Given the description of an element on the screen output the (x, y) to click on. 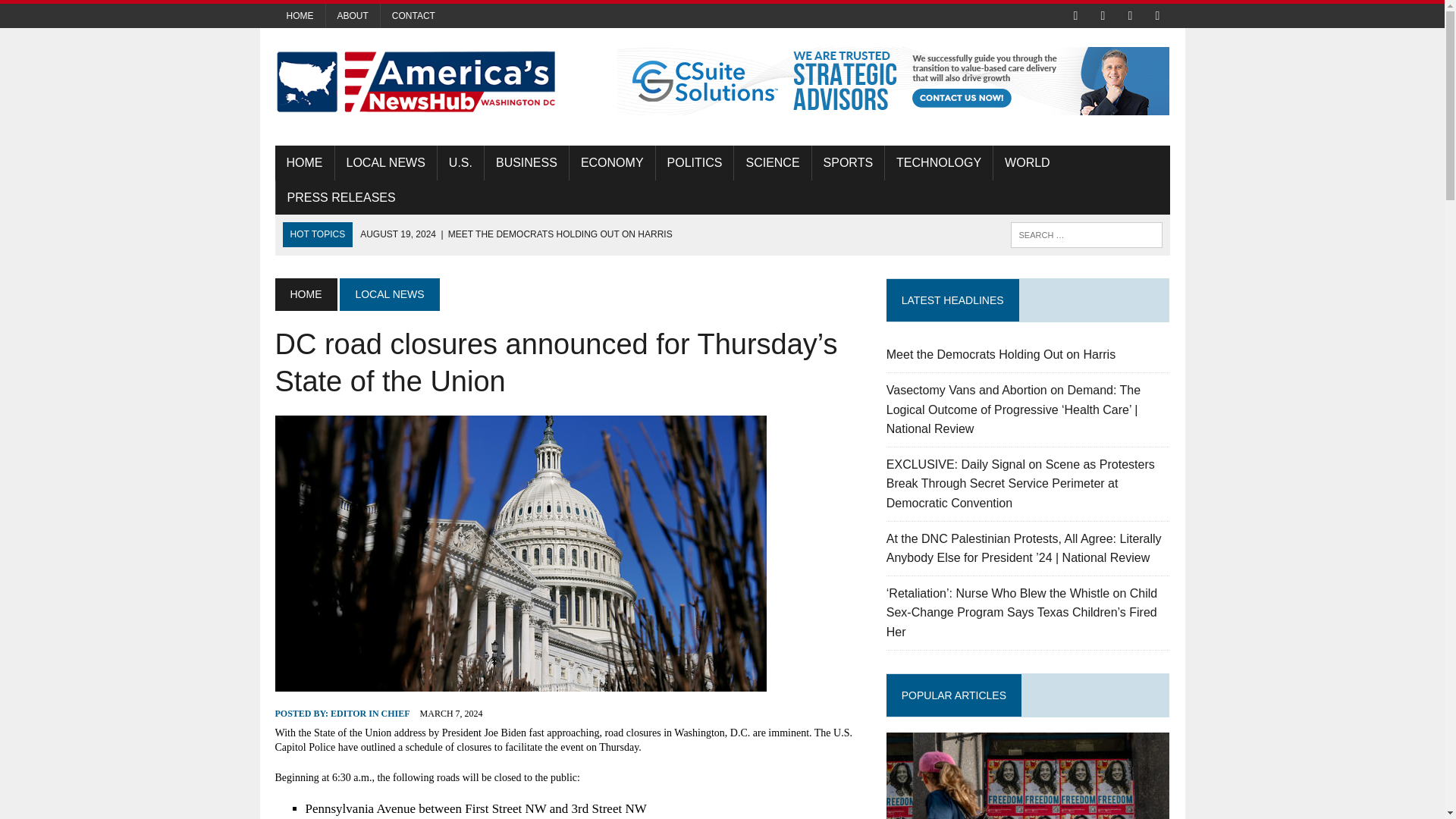
Meet the Democrats Holding Out on Harris (1000, 354)
SPORTS (848, 162)
Meet the Democrats Holding Out on Harris (1000, 354)
HOME (305, 294)
U.S. (460, 162)
ABOUT (353, 15)
PRESS RELEASES (341, 197)
Washington DC NewsHub (416, 82)
HOME (304, 162)
